Given the description of an element on the screen output the (x, y) to click on. 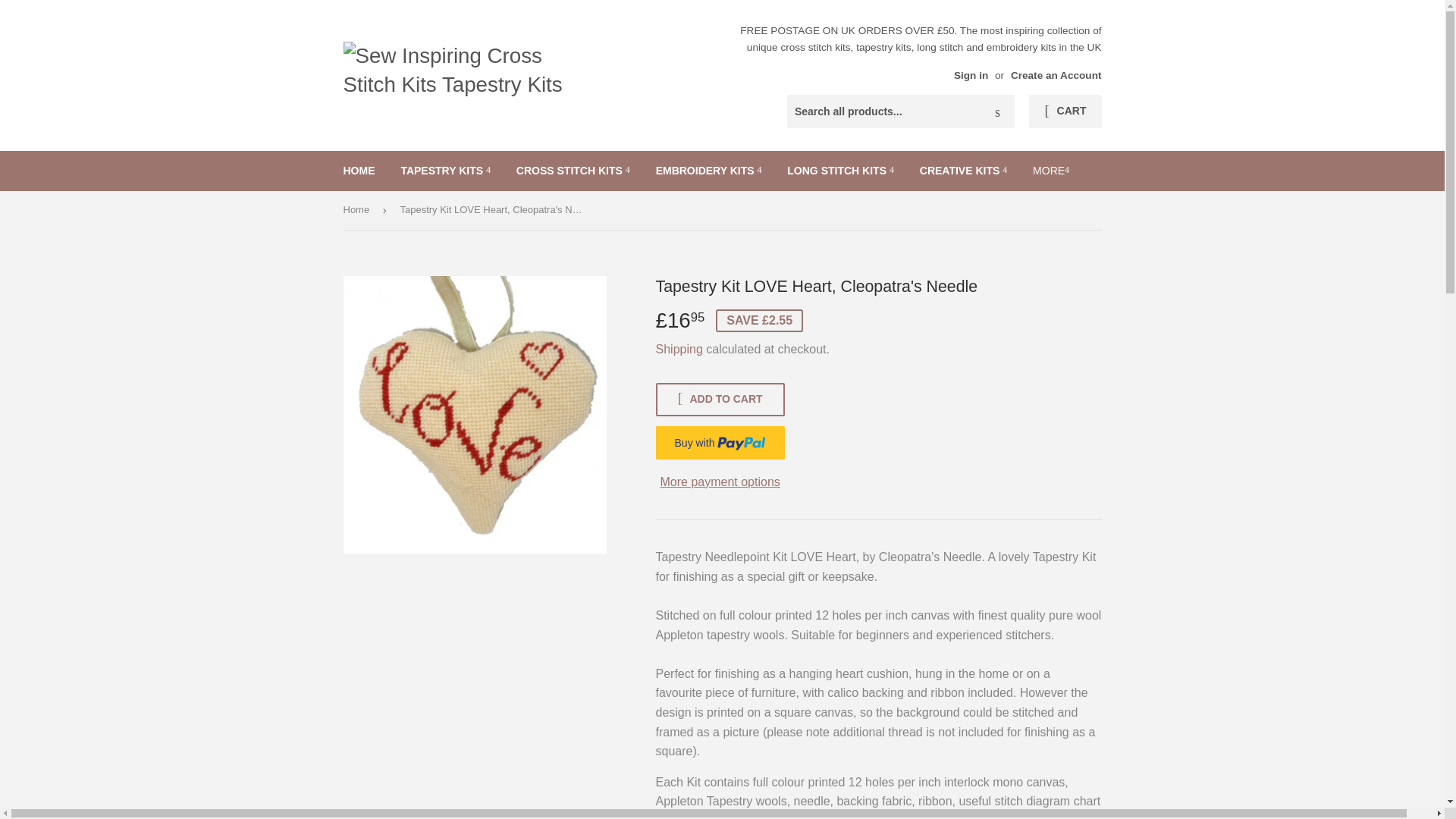
Create an Account (1056, 75)
CART (1064, 111)
Sign in (970, 75)
Search (996, 111)
Back to the frontpage (358, 210)
